Given the description of an element on the screen output the (x, y) to click on. 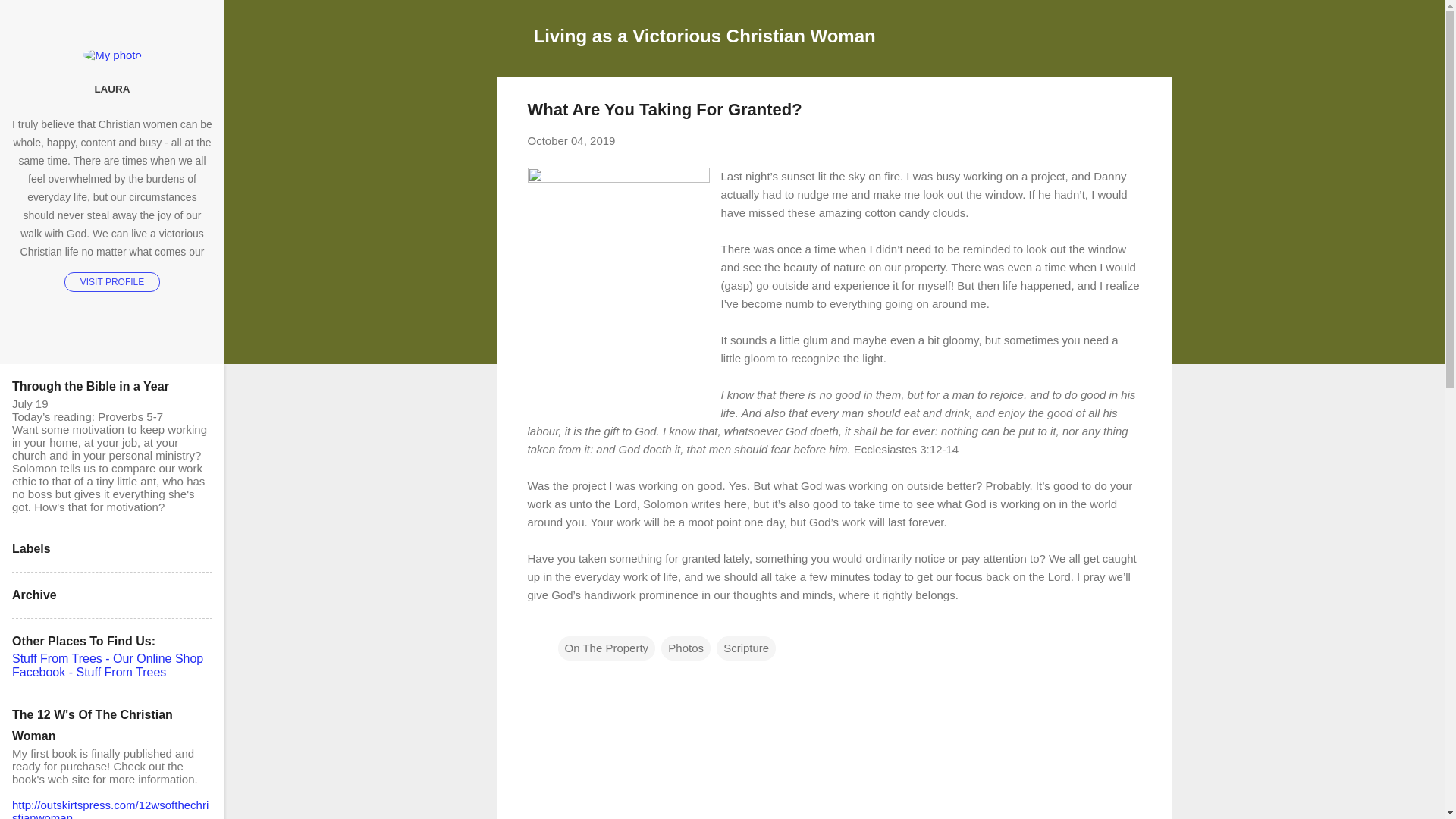
On The Property (606, 647)
Photos (685, 647)
LAURA (112, 88)
Scripture (746, 647)
Search (29, 18)
October 04, 2019 (571, 140)
VISIT PROFILE (112, 281)
Living as a Victorious Christian Woman (705, 35)
permanent link (571, 140)
